Given the description of an element on the screen output the (x, y) to click on. 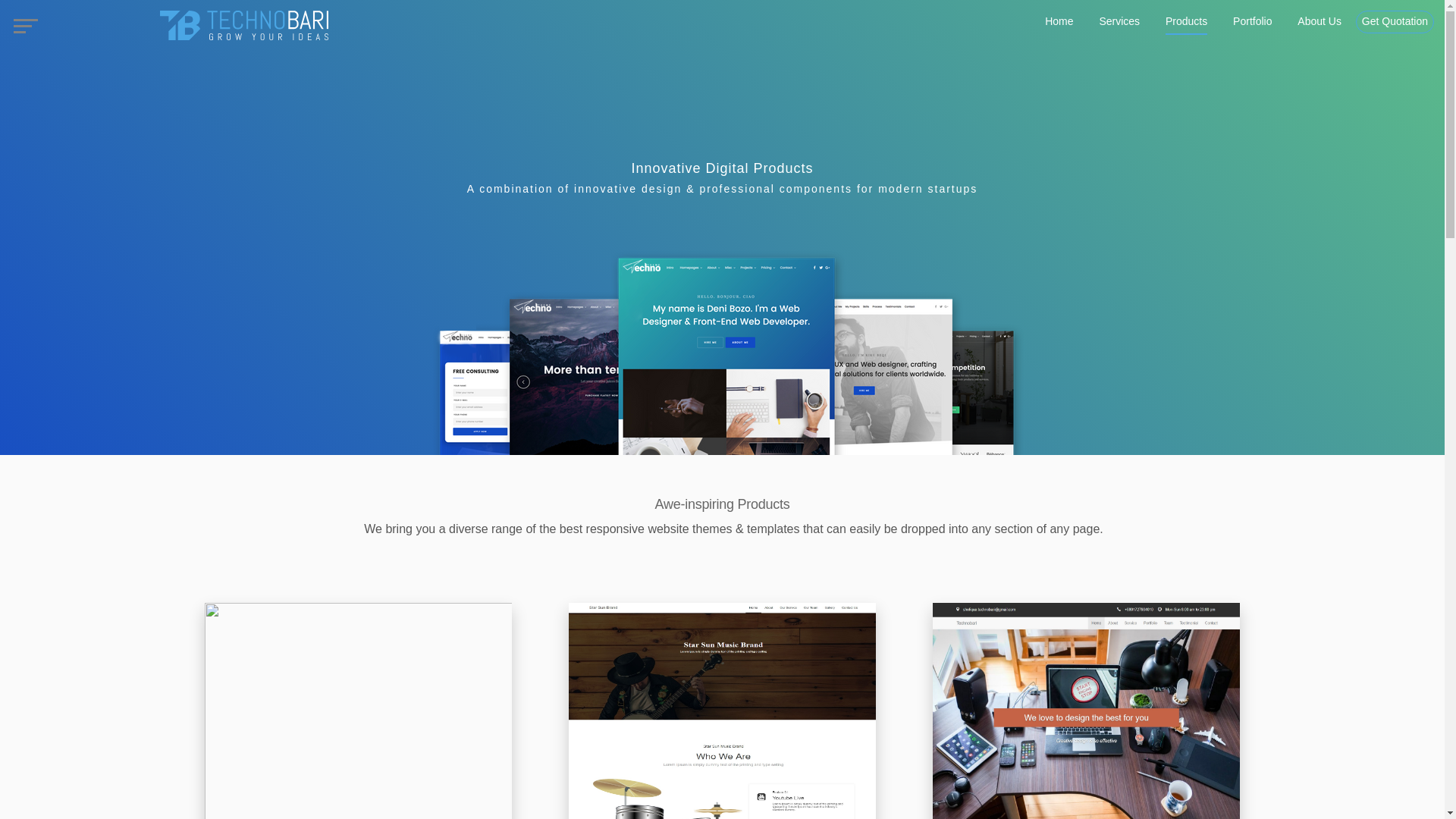
Get Quotation (1394, 21)
Home (1059, 21)
Products (1186, 21)
Services (1119, 21)
Portfolio (1252, 21)
About Us (1318, 21)
